Given the description of an element on the screen output the (x, y) to click on. 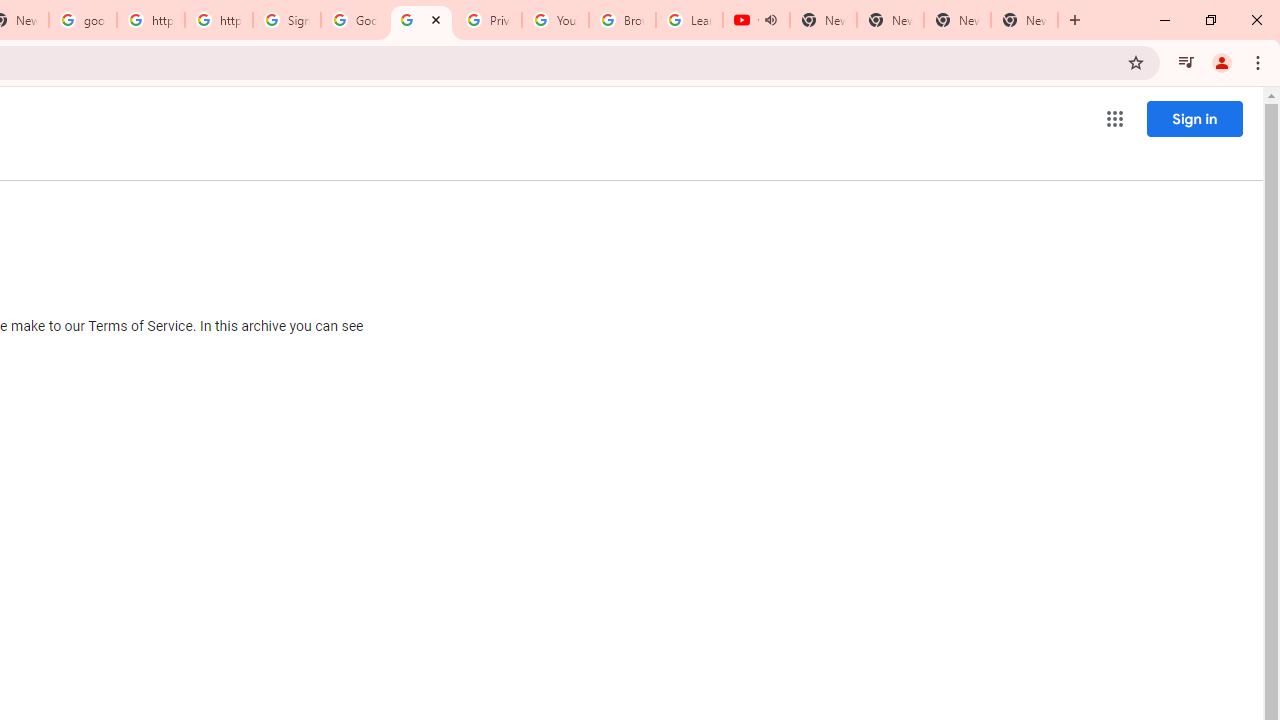
https://scholar.google.com/ (150, 20)
Sign in - Google Accounts (287, 20)
New Tab (1024, 20)
https://scholar.google.com/ (219, 20)
